Given the description of an element on the screen output the (x, y) to click on. 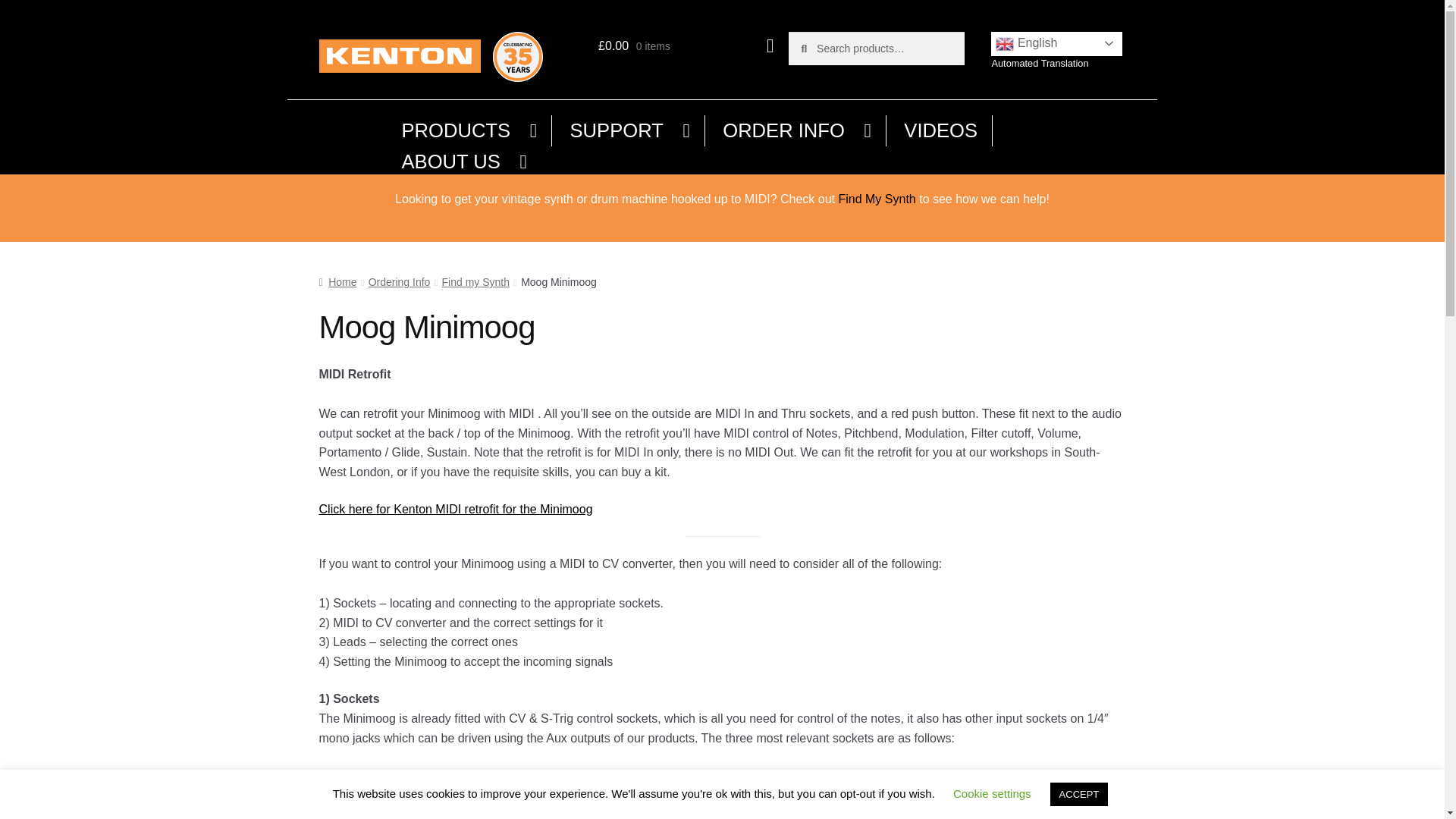
View your shopping basket (685, 46)
English (1056, 43)
SUPPORT (630, 130)
PRODUCTS (470, 130)
